Given the description of an element on the screen output the (x, y) to click on. 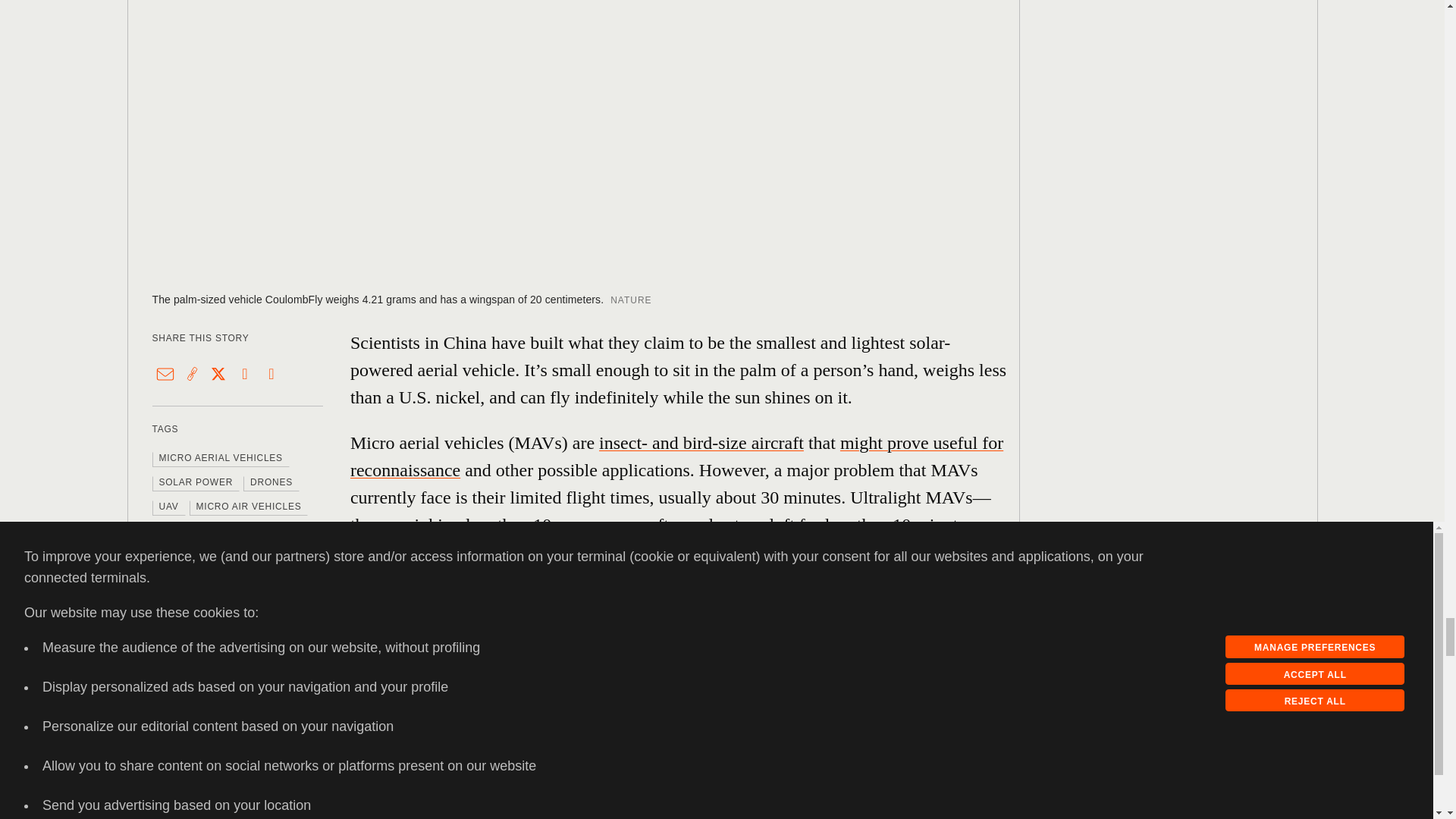
Copy this link to clipboard (192, 374)
